Given the description of an element on the screen output the (x, y) to click on. 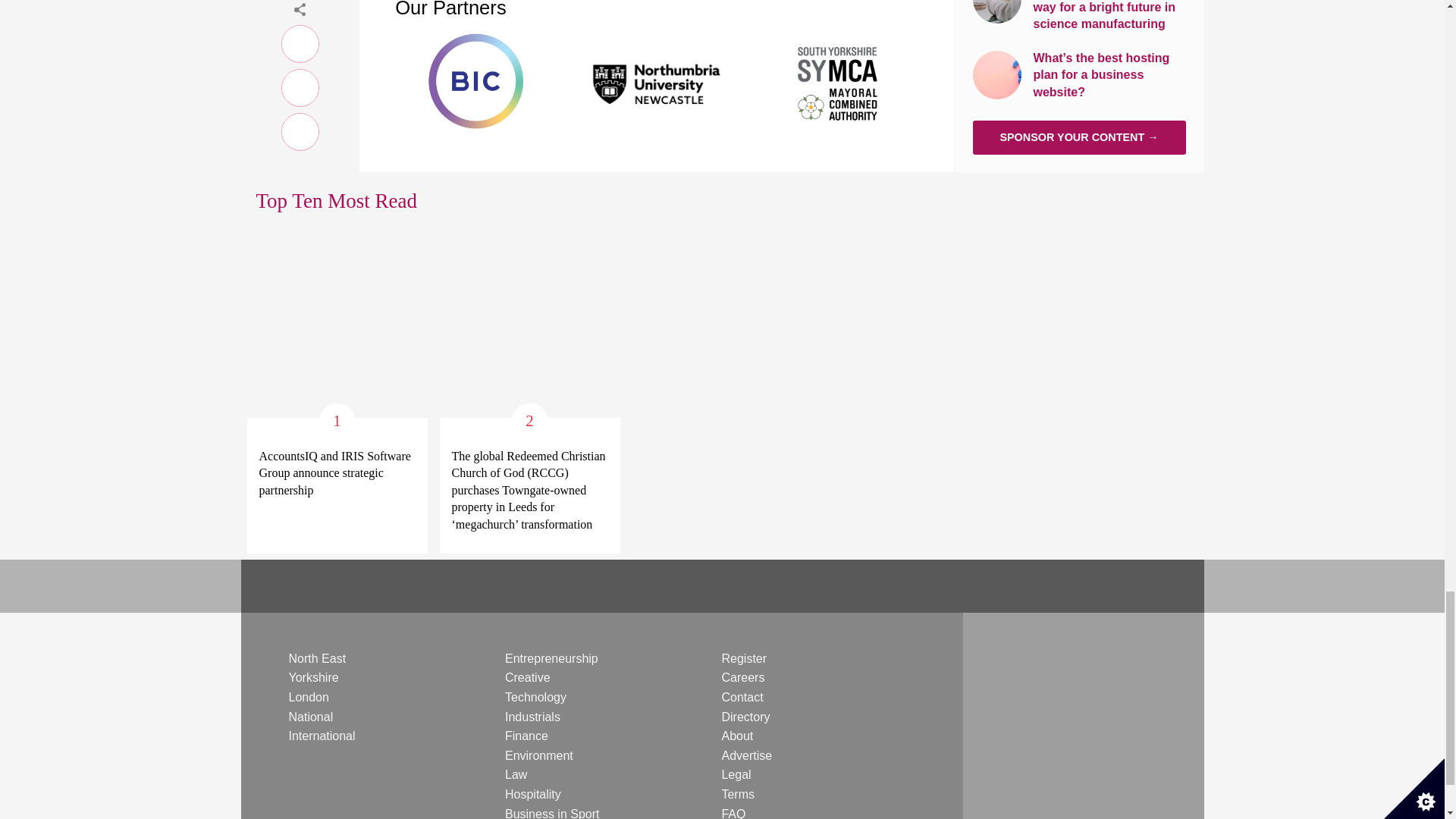
Northumbria University Newcastle (656, 82)
Yorkshire (312, 676)
North East (317, 658)
North East BIC (474, 82)
National (310, 716)
South Yorkshire Mayoral Combined Authority (838, 82)
London (308, 697)
